Given the description of an element on the screen output the (x, y) to click on. 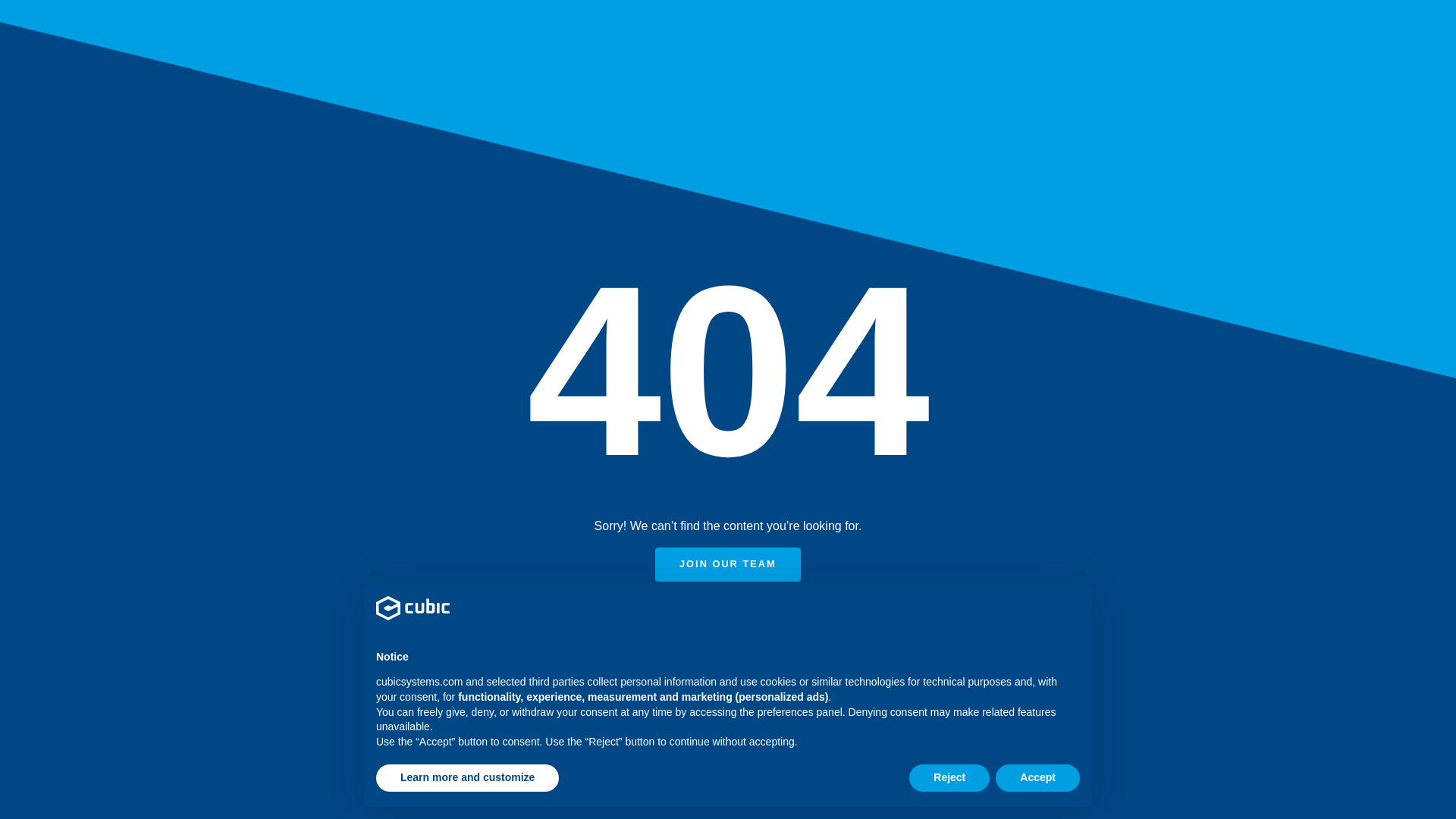
JOIN OUR TEAM (727, 564)
Reject (949, 777)
Learn more and customize (467, 777)
Accept (1037, 777)
